Given the description of an element on the screen output the (x, y) to click on. 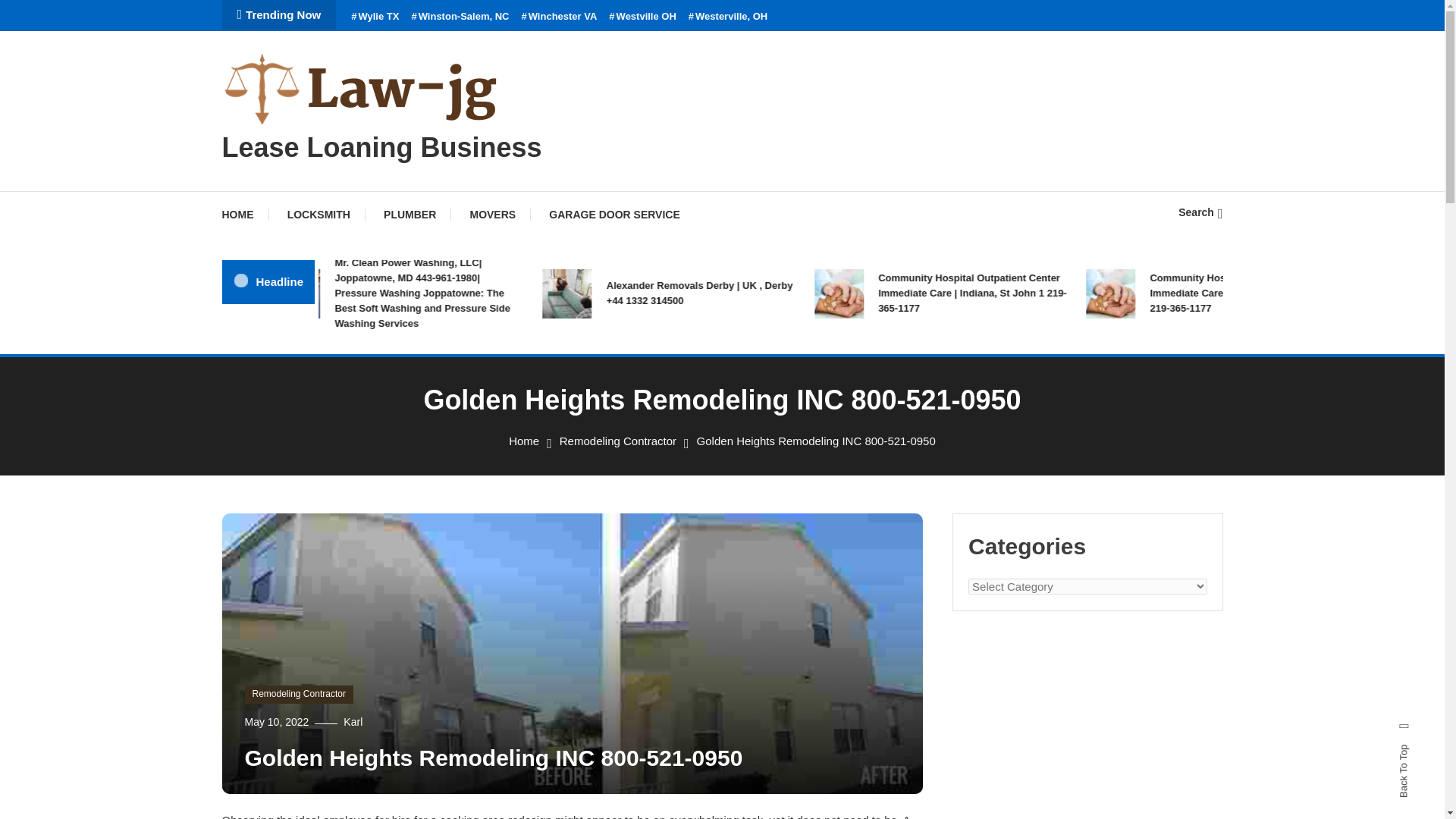
Lease Loaning Business (381, 146)
Search (1200, 212)
Home (523, 440)
Westville OH (641, 16)
Wylie TX (374, 16)
May 10, 2022 (276, 721)
Search (768, 434)
MOVERS (492, 214)
LOCKSMITH (318, 214)
Karl (352, 721)
Winston-Salem, NC (459, 16)
HOME (244, 214)
Remodeling Contractor (298, 694)
Winchester VA (558, 16)
Remodeling Contractor (618, 440)
